Given the description of an element on the screen output the (x, y) to click on. 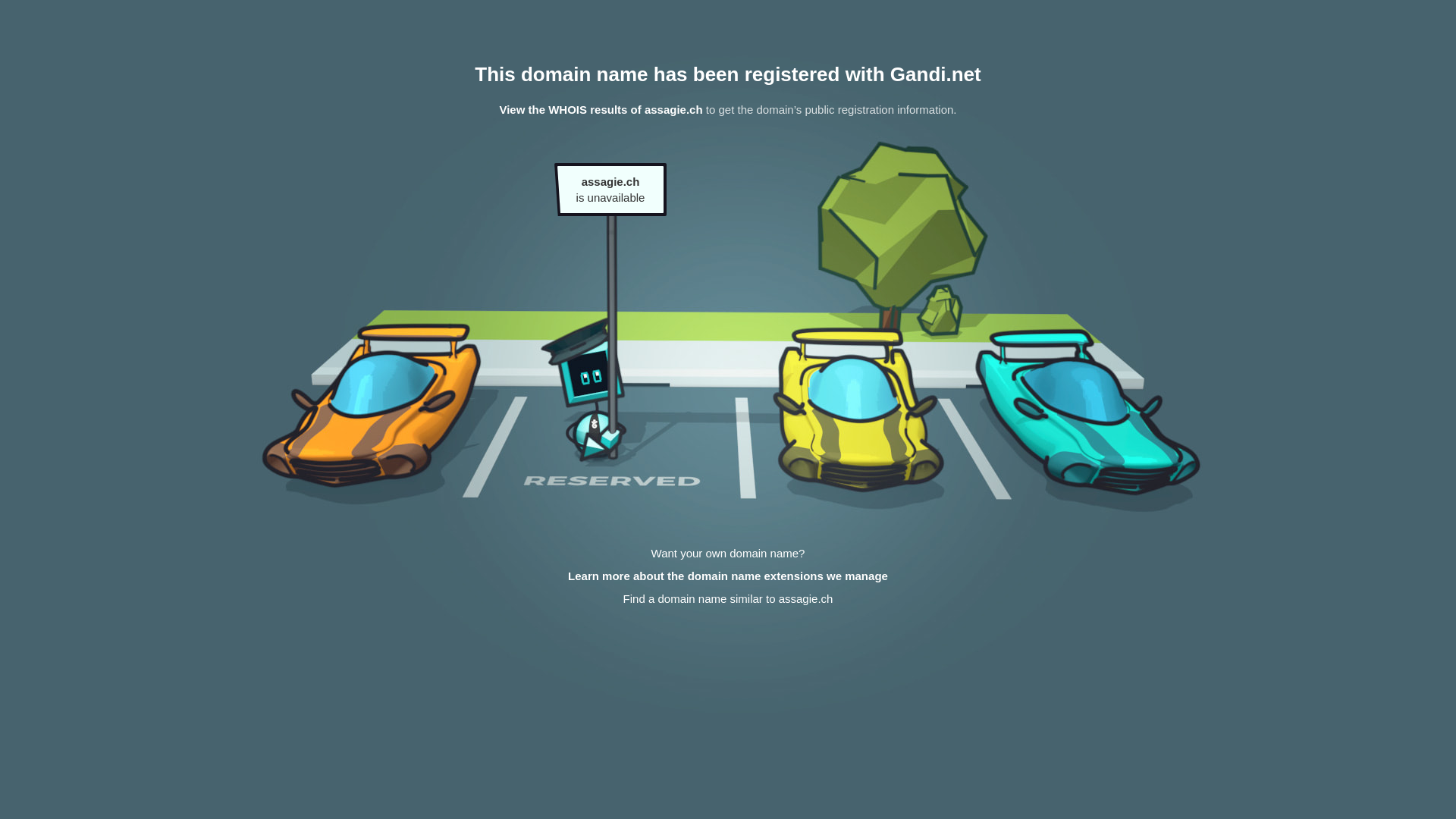
Learn more about the domain name extensions we manage Element type: text (727, 575)
View the WHOIS results of assagie.ch Element type: text (600, 109)
Find a domain name similar to assagie.ch Element type: text (728, 598)
